Given the description of an element on the screen output the (x, y) to click on. 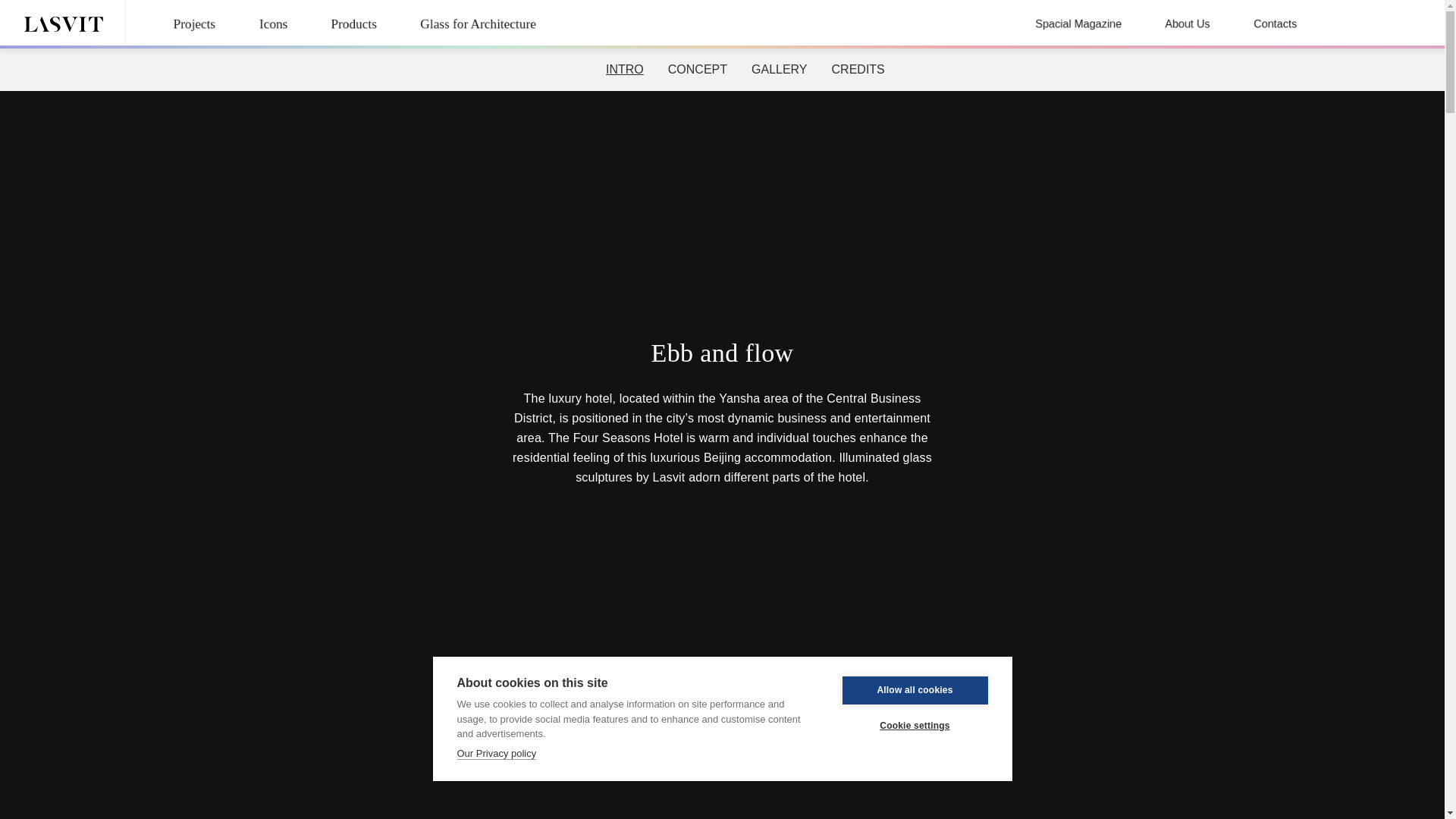
Contacts (1277, 25)
CREDITS (857, 69)
INTRO (625, 69)
GALLERY (779, 69)
CONCEPT (697, 69)
Spacial Magazine (1083, 24)
